Given the description of an element on the screen output the (x, y) to click on. 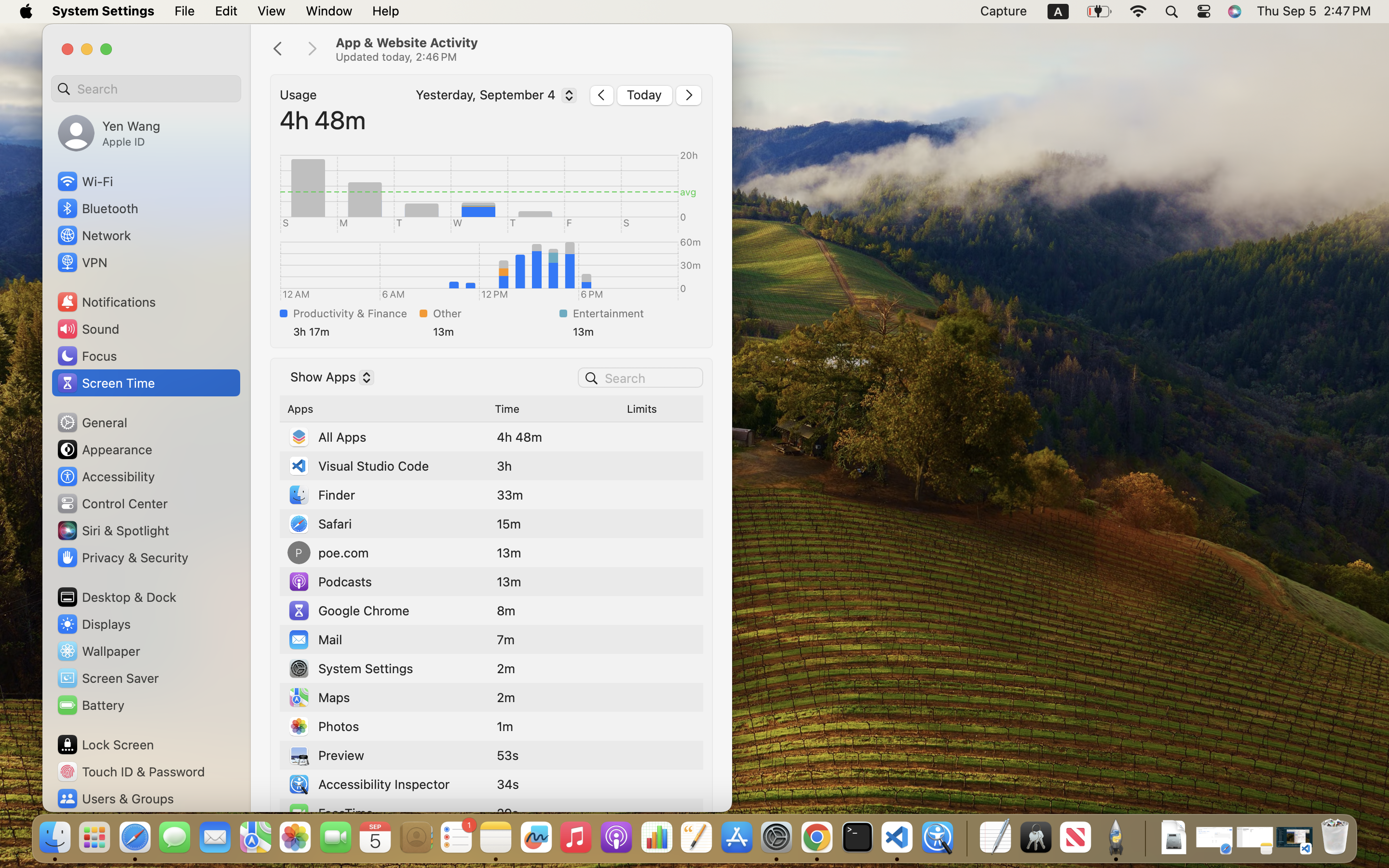
Wednesday Element type: AXSlider (491, 187)
Appearance Element type: AXStaticText (103, 449)
2m Element type: AXStaticText (505, 697)
Yen Wang, Apple ID Element type: AXStaticText (108, 132)
